Given the description of an element on the screen output the (x, y) to click on. 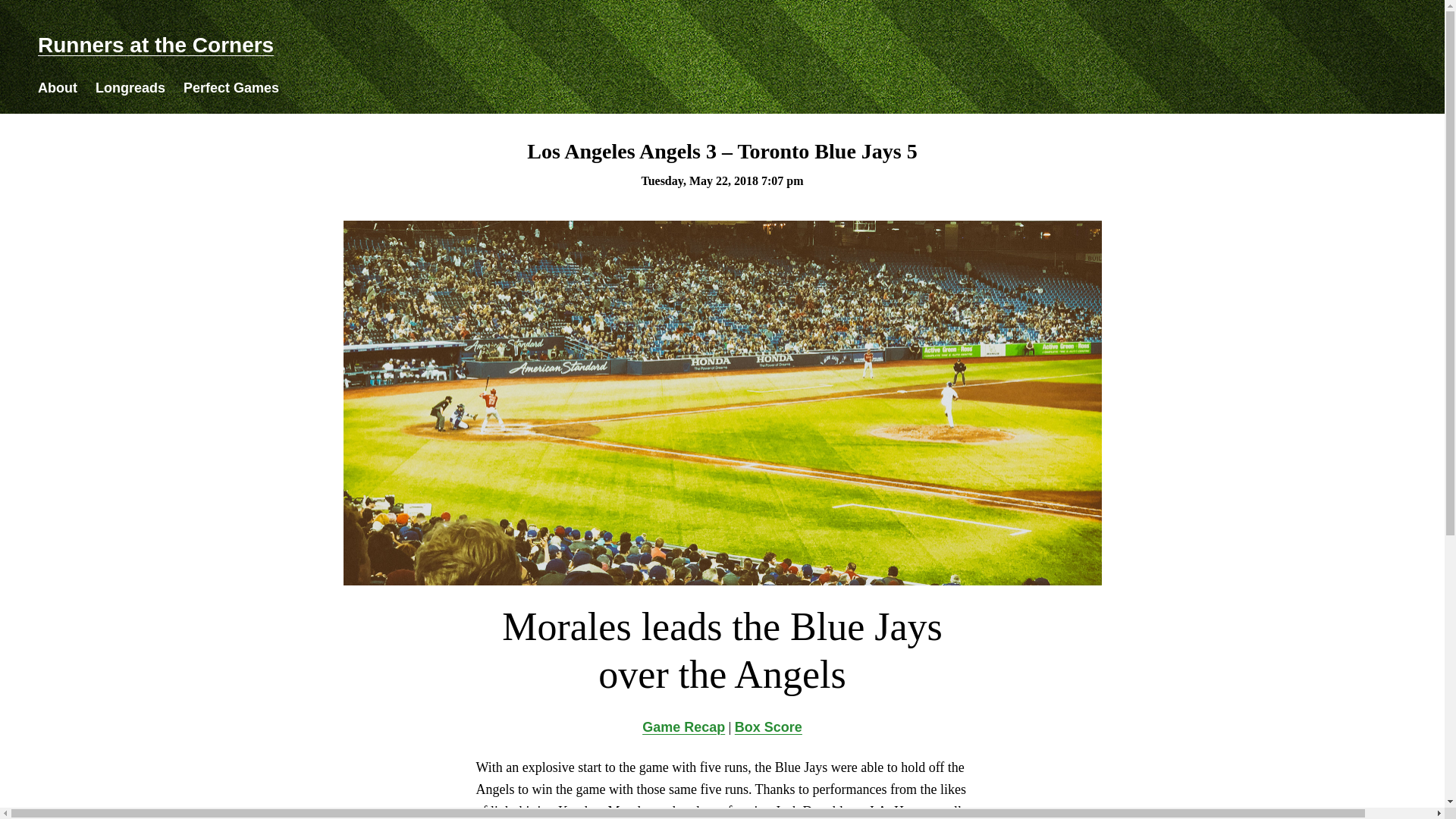
About (57, 87)
Box Score (768, 726)
Runners at the Corners (155, 44)
Perfect Games (231, 87)
Longreads (130, 87)
Game Recap (683, 726)
